Given the description of an element on the screen output the (x, y) to click on. 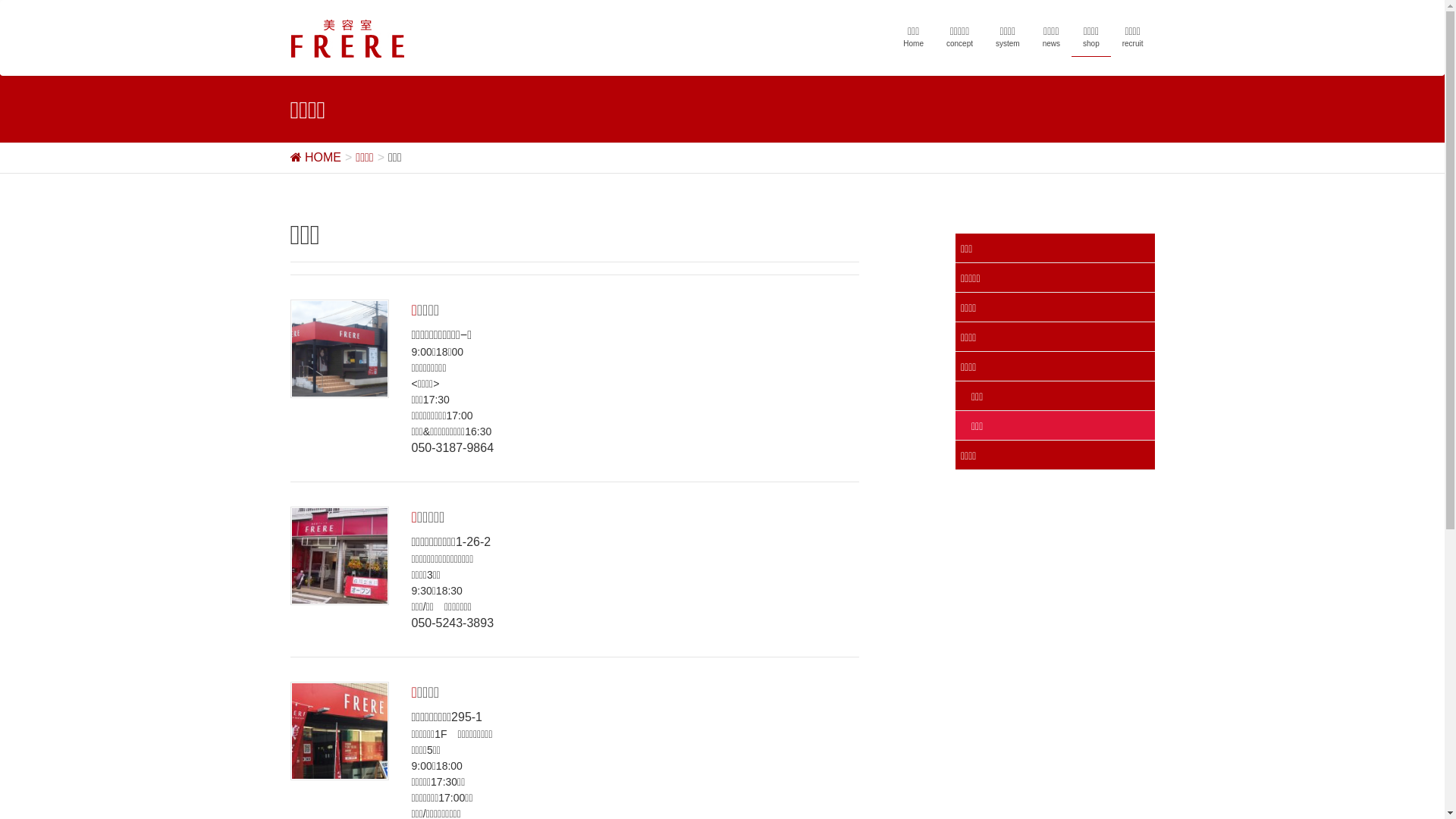
HOME Element type: text (314, 156)
